Given the description of an element on the screen output the (x, y) to click on. 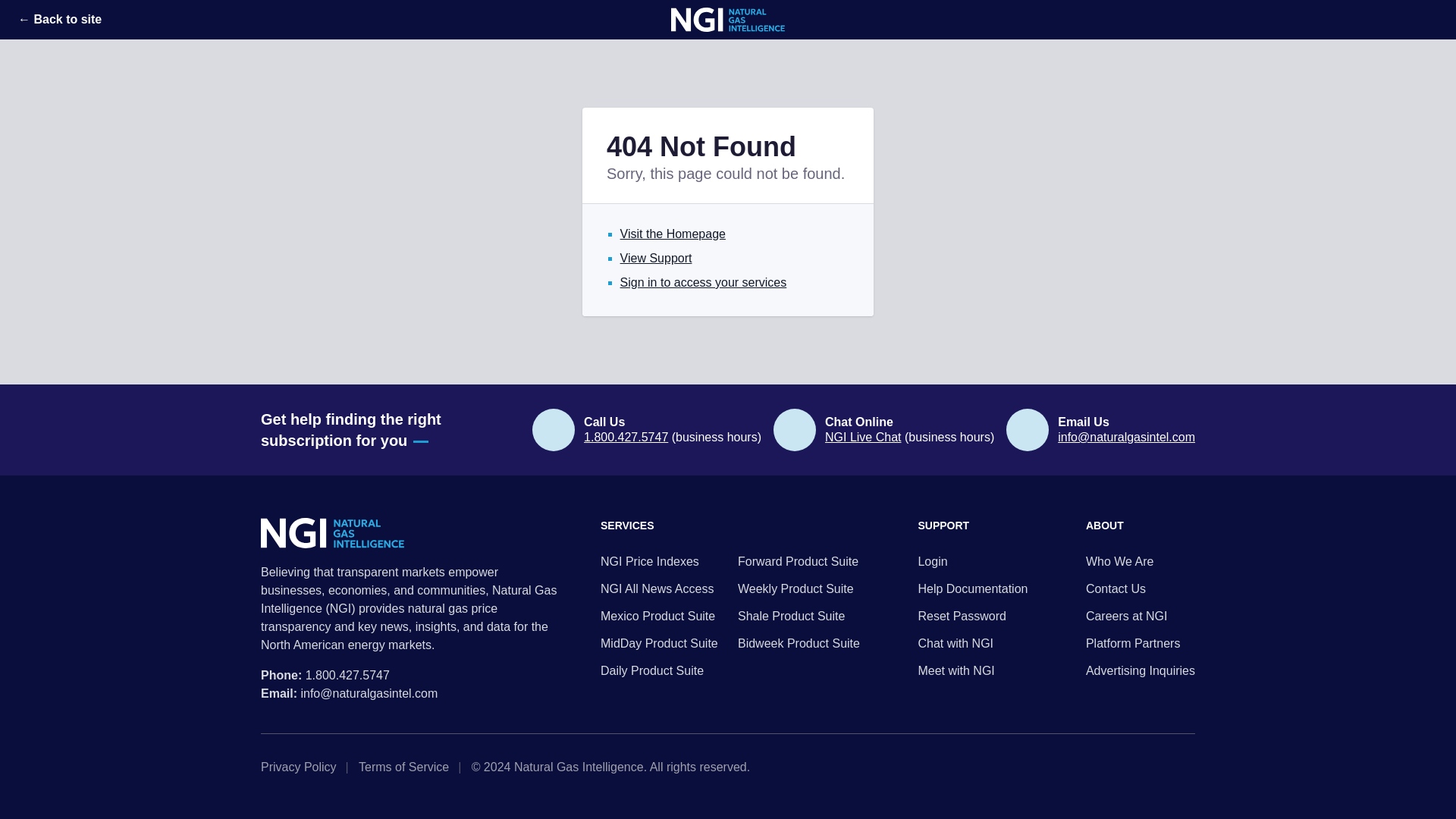
1.800.427.5747 (625, 436)
Daily Product Suite (660, 670)
Forward Product Suite (799, 561)
NGI Price Indexes (660, 561)
Careers at NGI (1140, 616)
Advertising Inquiries (1140, 670)
Visit the Homepage (672, 233)
1.800.427.5747 (347, 675)
Bidweek Product Suite (799, 643)
Login (972, 561)
X (1140, 766)
NGI Live Chat (863, 436)
Who We Are (1140, 561)
Chat with NGI (972, 643)
Weekly Product Suite (799, 588)
